Given the description of an element on the screen output the (x, y) to click on. 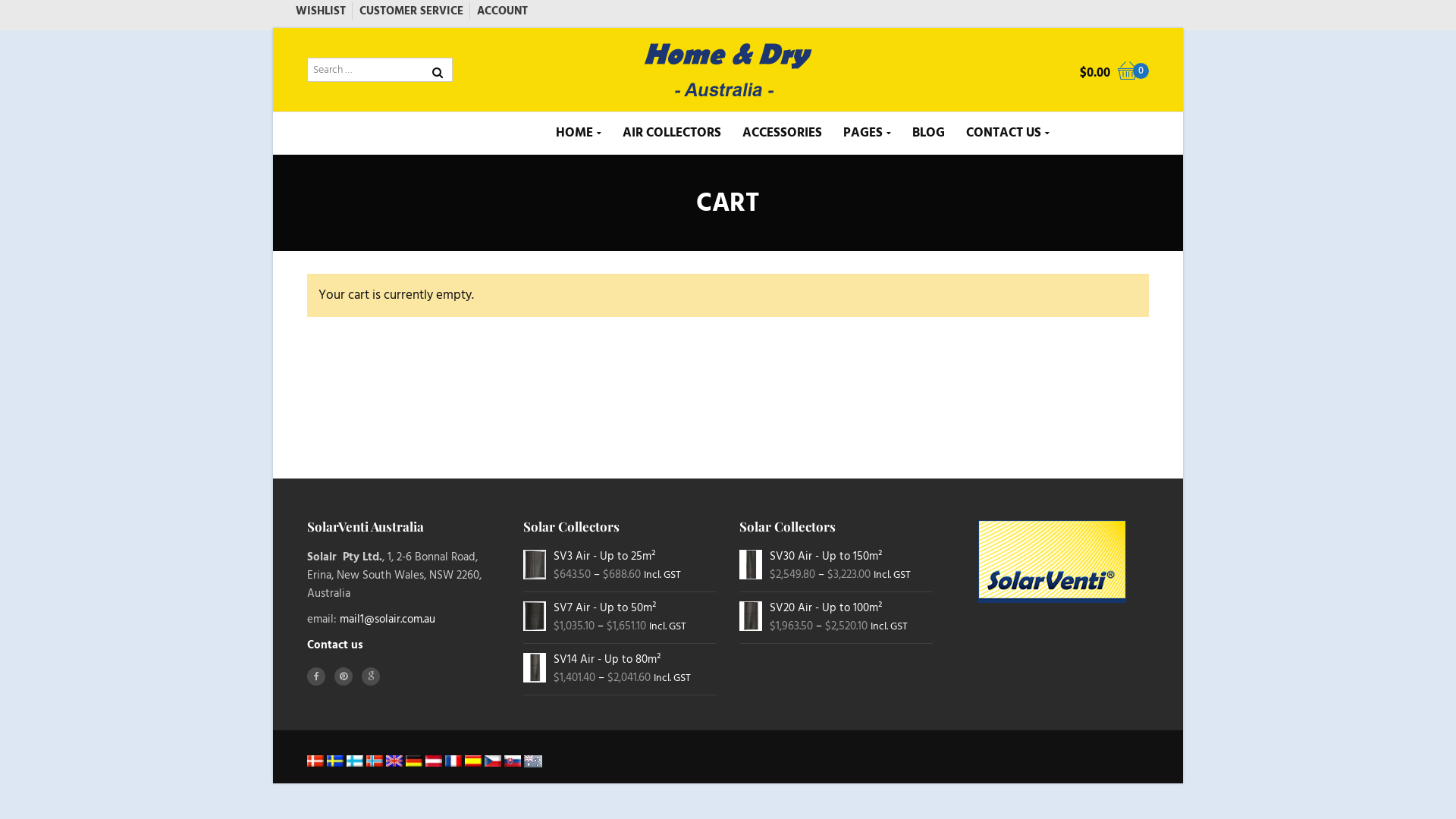
HOME Element type: text (577, 133)
Contact us Element type: text (335, 644)
BLOG Element type: text (927, 132)
WISHLIST Element type: text (323, 11)
Deutschland Element type: hover (413, 760)
Norge Element type: hover (374, 760)
PAGES Element type: text (867, 133)
Australia Element type: hover (533, 761)
AIR COLLECTORS Element type: text (670, 132)
Danmark Element type: hover (315, 760)
0
$0.00 Element type: text (1105, 73)
ACCESSORIES Element type: text (781, 132)
ACCOUNT Element type: text (501, 11)
mail1@solair.com.au Element type: text (387, 618)
CUSTOMER SERVICE Element type: text (414, 11)
Search Element type: text (438, 99)
Suomi Element type: hover (354, 760)
Sverige Element type: hover (334, 760)
Slovensko Element type: hover (512, 760)
International Element type: hover (393, 760)
CONTACT US Element type: text (1007, 133)
France Element type: hover (453, 760)
